Given the description of an element on the screen output the (x, y) to click on. 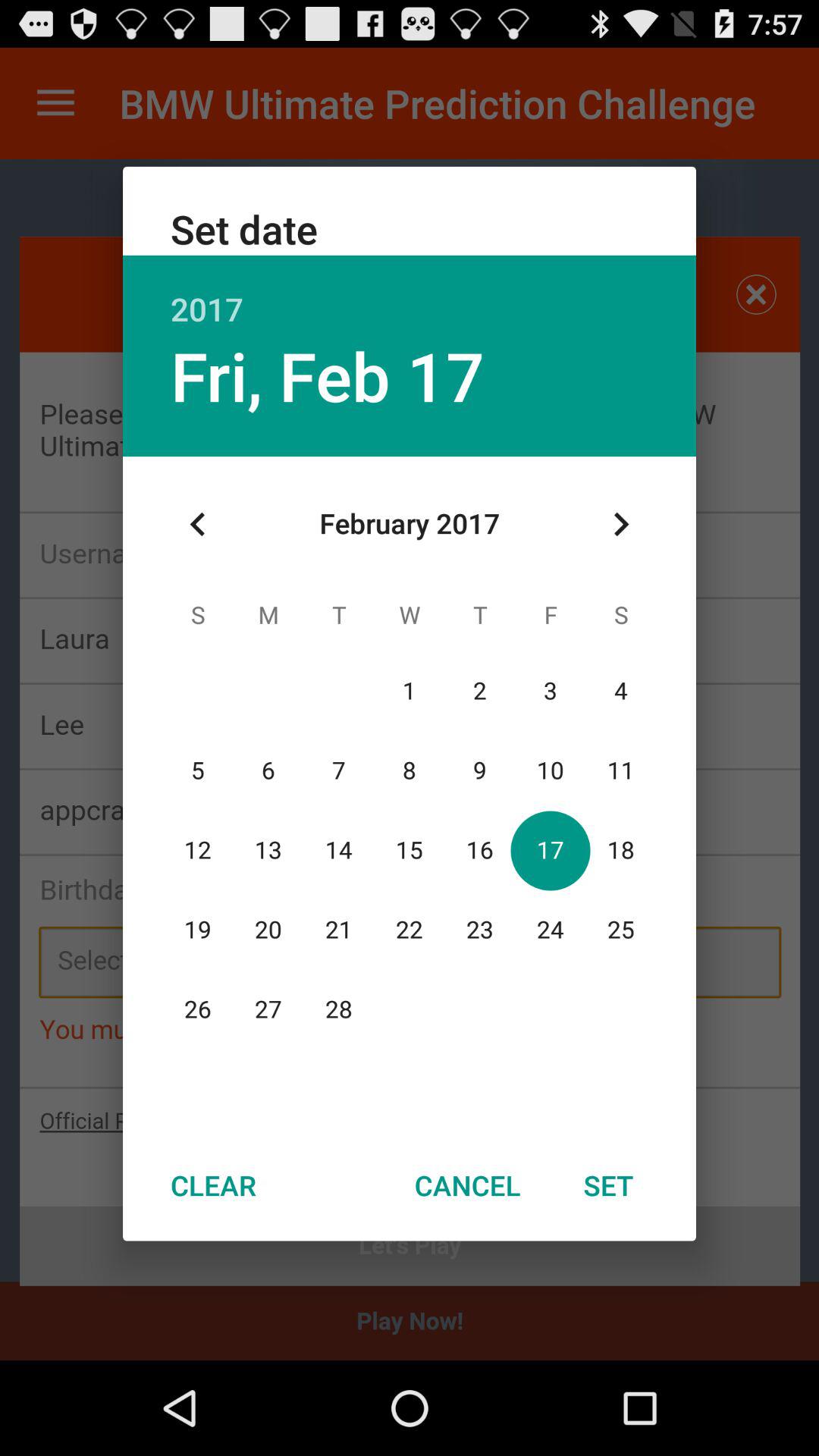
tap the icon on the right (620, 524)
